Given the description of an element on the screen output the (x, y) to click on. 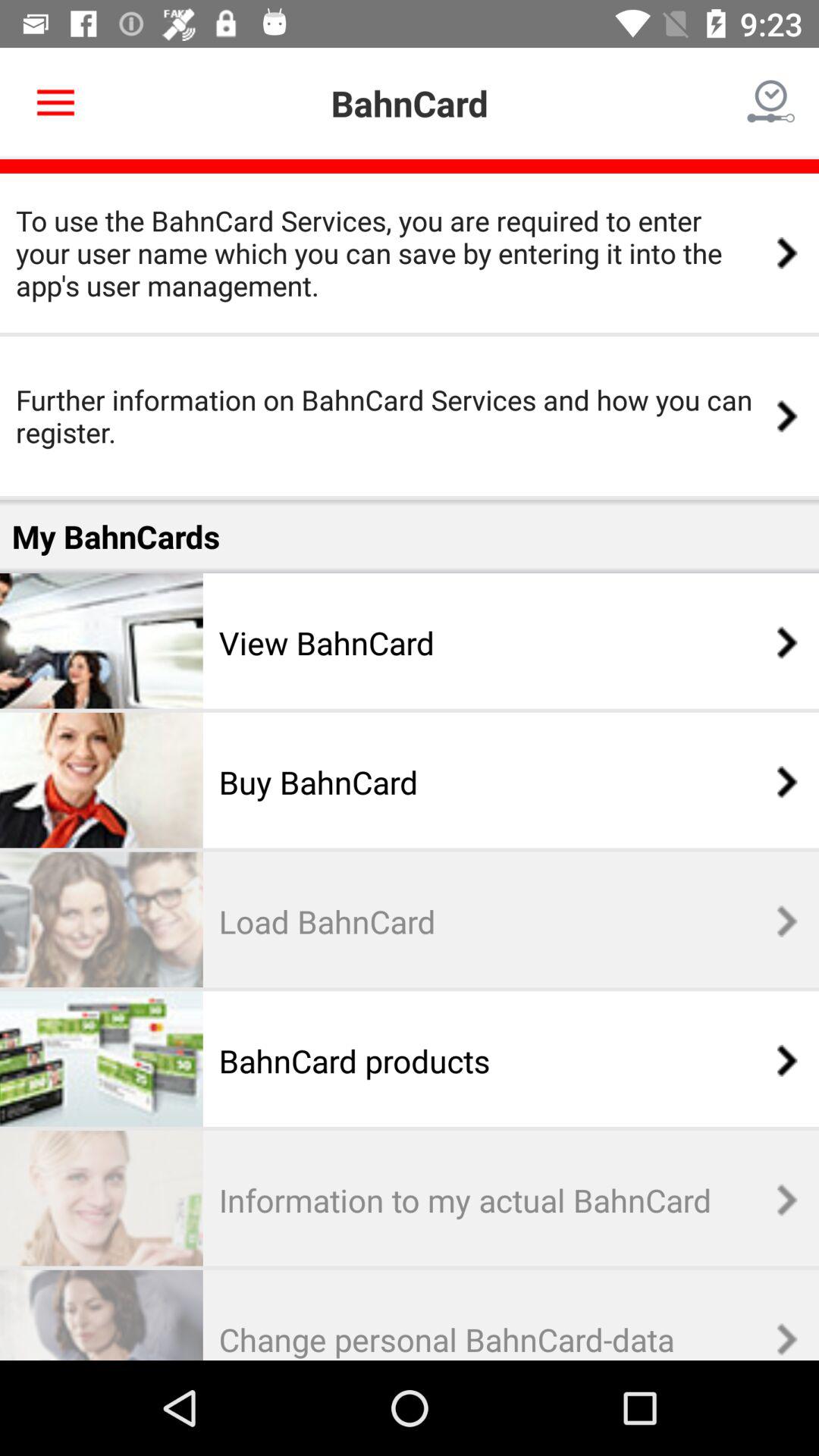
select the next button which is after bahncard products on the page (779, 1060)
click on the front arrow which is next to change personal bahncarddata (779, 1337)
click on the next arrow button to the right of the text information to my actual bahncard (779, 1200)
select the tracking icon which is below the 923 (771, 103)
